Given the description of an element on the screen output the (x, y) to click on. 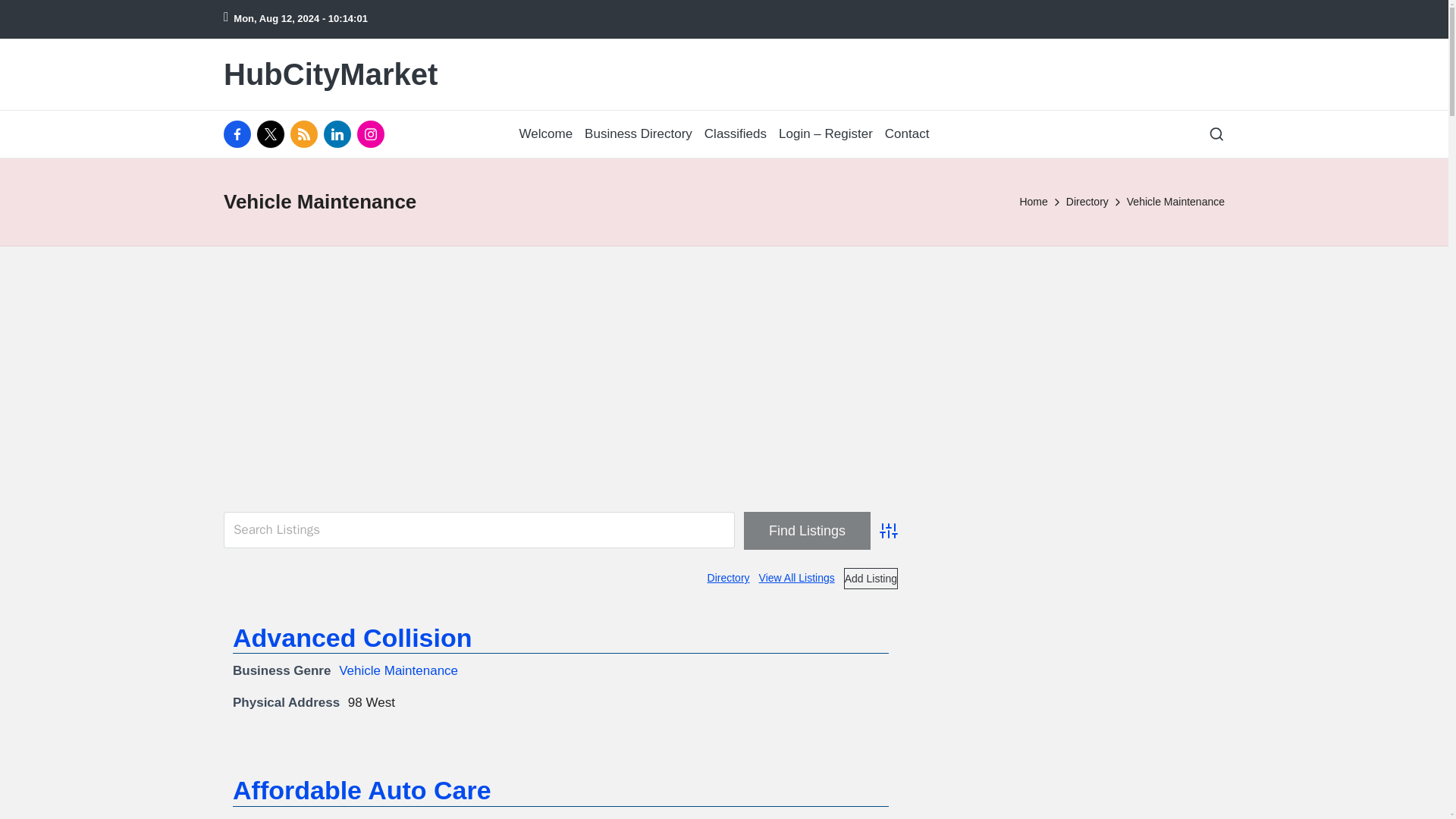
Home (1032, 201)
HubCityMarket (331, 73)
Affordable Auto Care (362, 789)
Find Listings (807, 529)
Welcome (546, 133)
Directory (728, 578)
twitter.com (273, 134)
Directory (1086, 201)
View All Listings (796, 578)
